Given the description of an element on the screen output the (x, y) to click on. 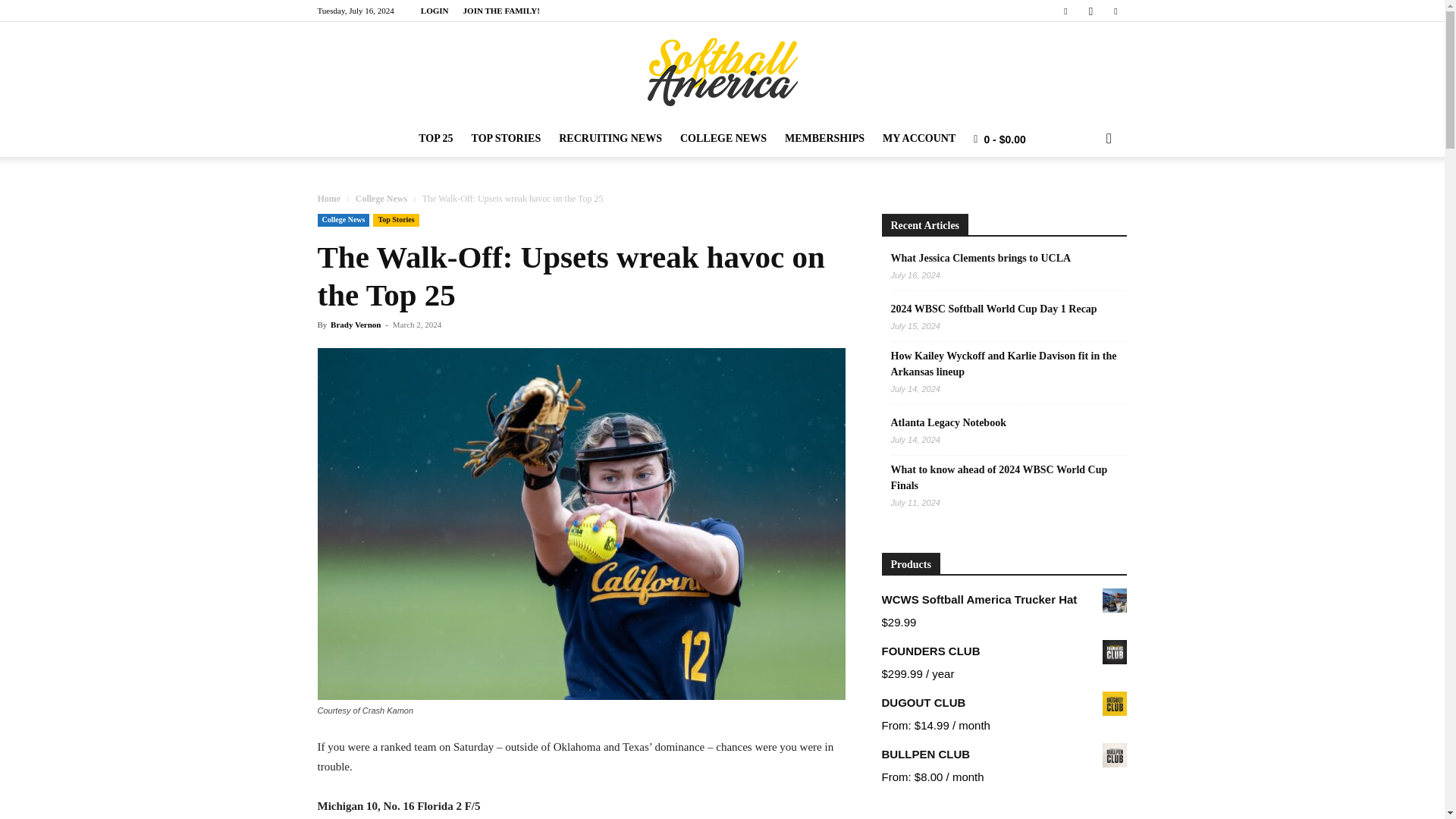
Facebook (1065, 10)
TOP STORIES (506, 138)
COLLEGE NEWS (723, 138)
JOIN THE FAMILY! (501, 10)
RECRUITING NEWS (610, 138)
MEMBERSHIPS (824, 138)
View your shopping cart (998, 139)
Twitter (1114, 10)
Home (328, 198)
MY ACCOUNT (918, 138)
Search (1085, 199)
LOGIN (434, 10)
TOP 25 (435, 138)
Instagram (1090, 10)
